Given the description of an element on the screen output the (x, y) to click on. 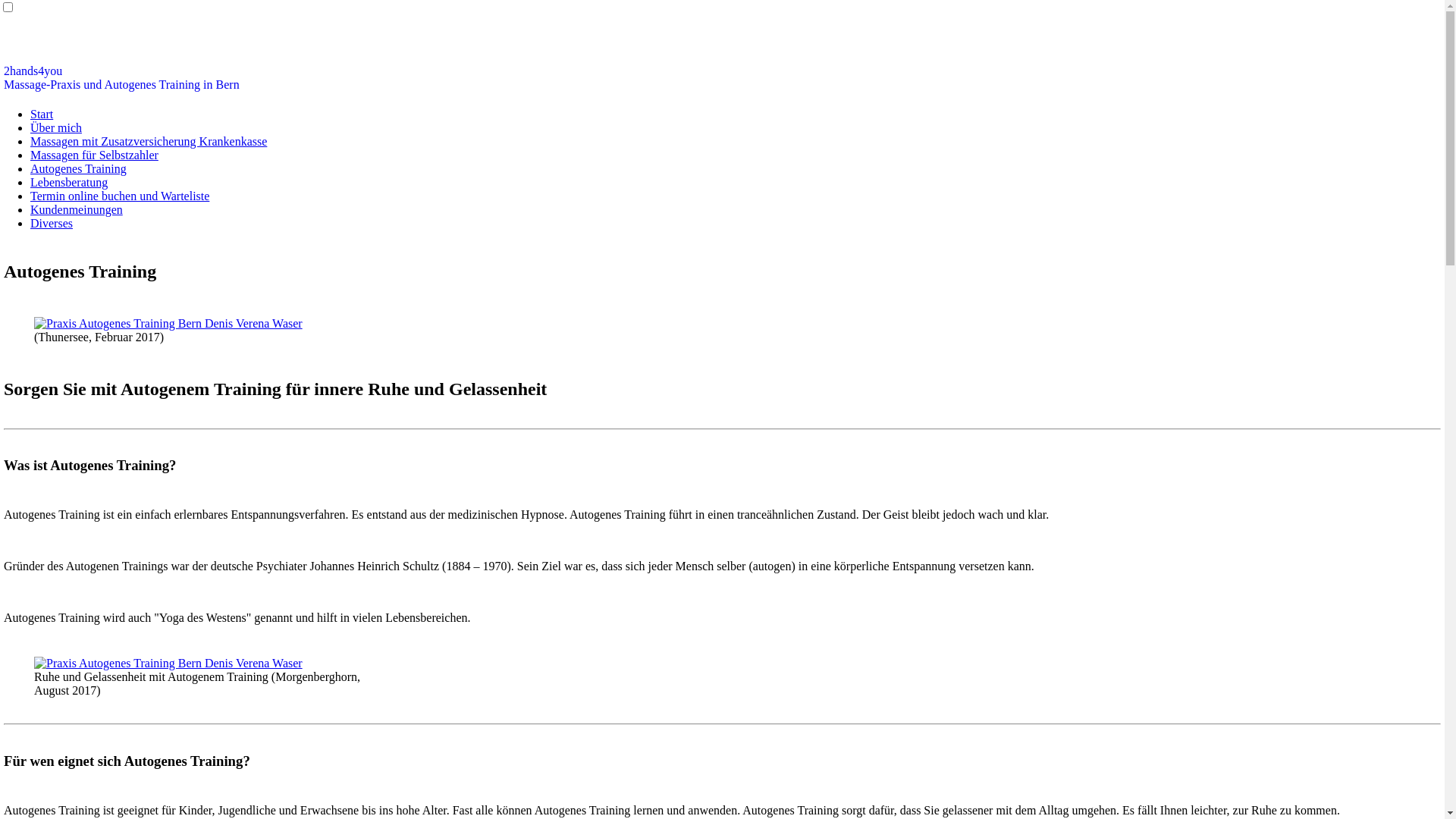
Kundenmeinungen Element type: text (76, 209)
Massagen mit Zusatzversicherung Krankenkasse Element type: text (148, 140)
Diverses Element type: text (51, 222)
Autogenes Training Element type: text (78, 168)
Start Element type: text (41, 113)
Lebensberatung Element type: text (68, 181)
Termin online buchen und Warteliste Element type: text (119, 195)
2hands4you
Massage-Praxis und Autogenes Training in Bern Element type: text (121, 77)
